Given the description of an element on the screen output the (x, y) to click on. 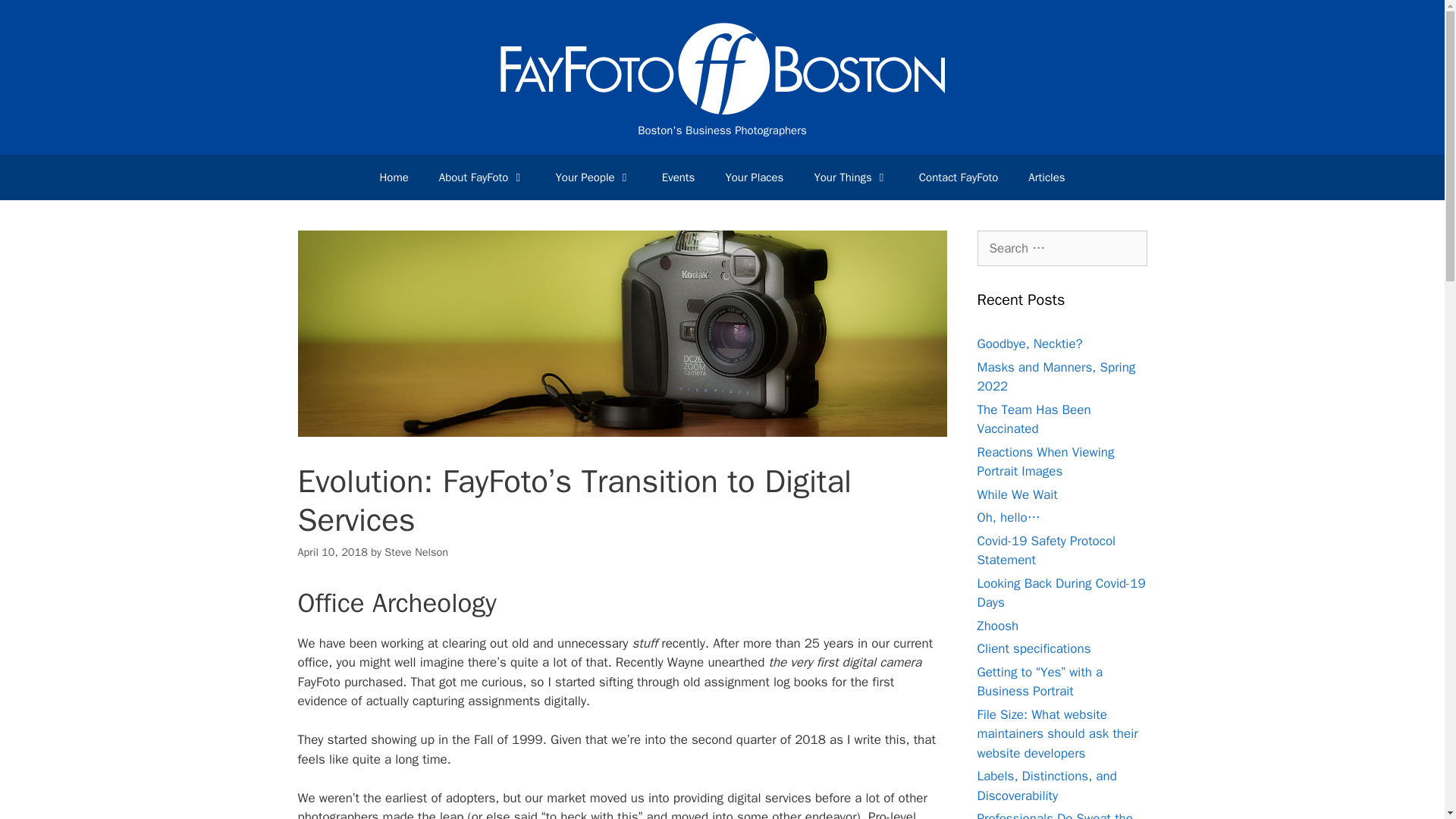
View all posts by Steve Nelson (416, 551)
Your Things (849, 176)
Search for: (1061, 248)
Articles (1046, 176)
Home (393, 176)
Events (678, 176)
Contact FayFoto (958, 176)
Steve Nelson (416, 551)
About FayFoto (481, 176)
Your People (593, 176)
